Given the description of an element on the screen output the (x, y) to click on. 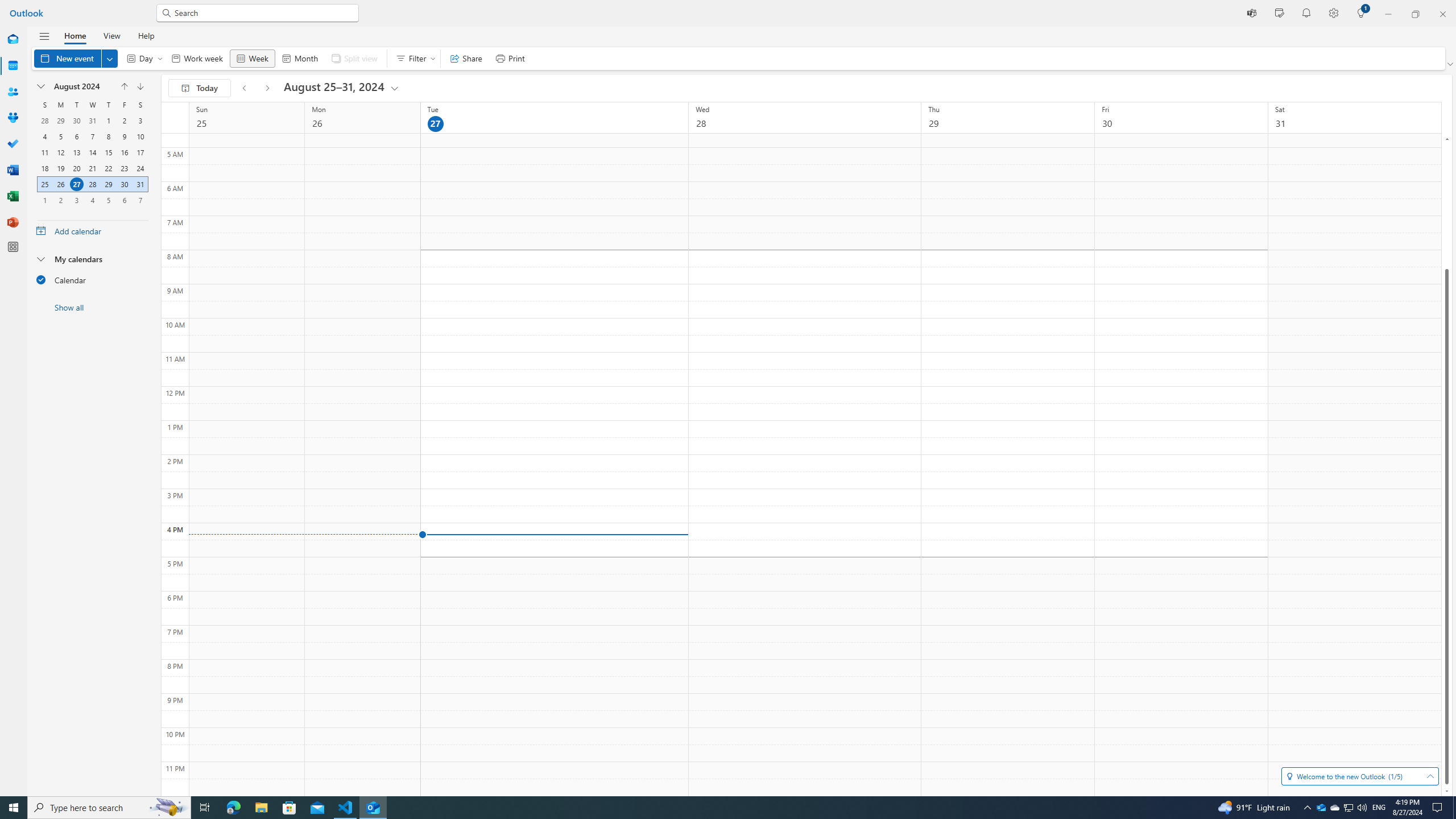
6, September, 2024 (124, 200)
3, September, 2024 (75, 200)
5, September, 2024 (108, 200)
31, July, 2024 (92, 120)
Calendar (92, 279)
14, August, 2024 (92, 151)
Friday (124, 104)
Filter (413, 58)
5, August, 2024 (60, 136)
17, August, 2024 (140, 151)
12, August, 2024 (60, 152)
Month (299, 58)
